Given the description of an element on the screen output the (x, y) to click on. 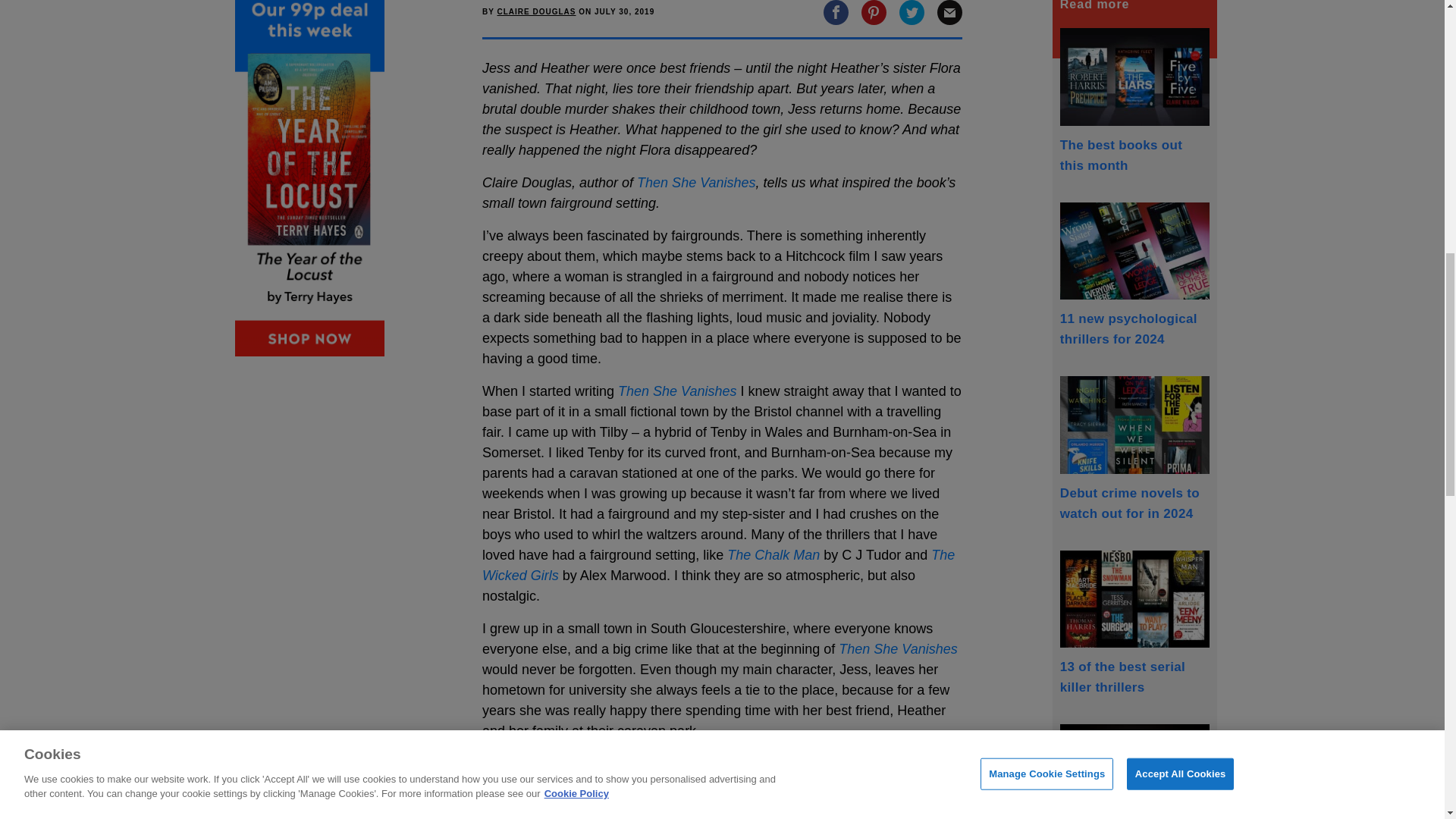
11 new psychological thrillers for 2024 (1134, 274)
The Chalk Man (772, 554)
Then She Vanishes (897, 648)
Debut crime novels to watch out for in 2024 (1134, 447)
Share on Twitter (911, 11)
Share on Pintrest (873, 11)
The Wicked Girls (718, 565)
CLAIRE DOUGLAS (535, 11)
Then She Vanishes (676, 391)
100 best crime books of all time, as chosen by our readers (1134, 771)
